Given the description of an element on the screen output the (x, y) to click on. 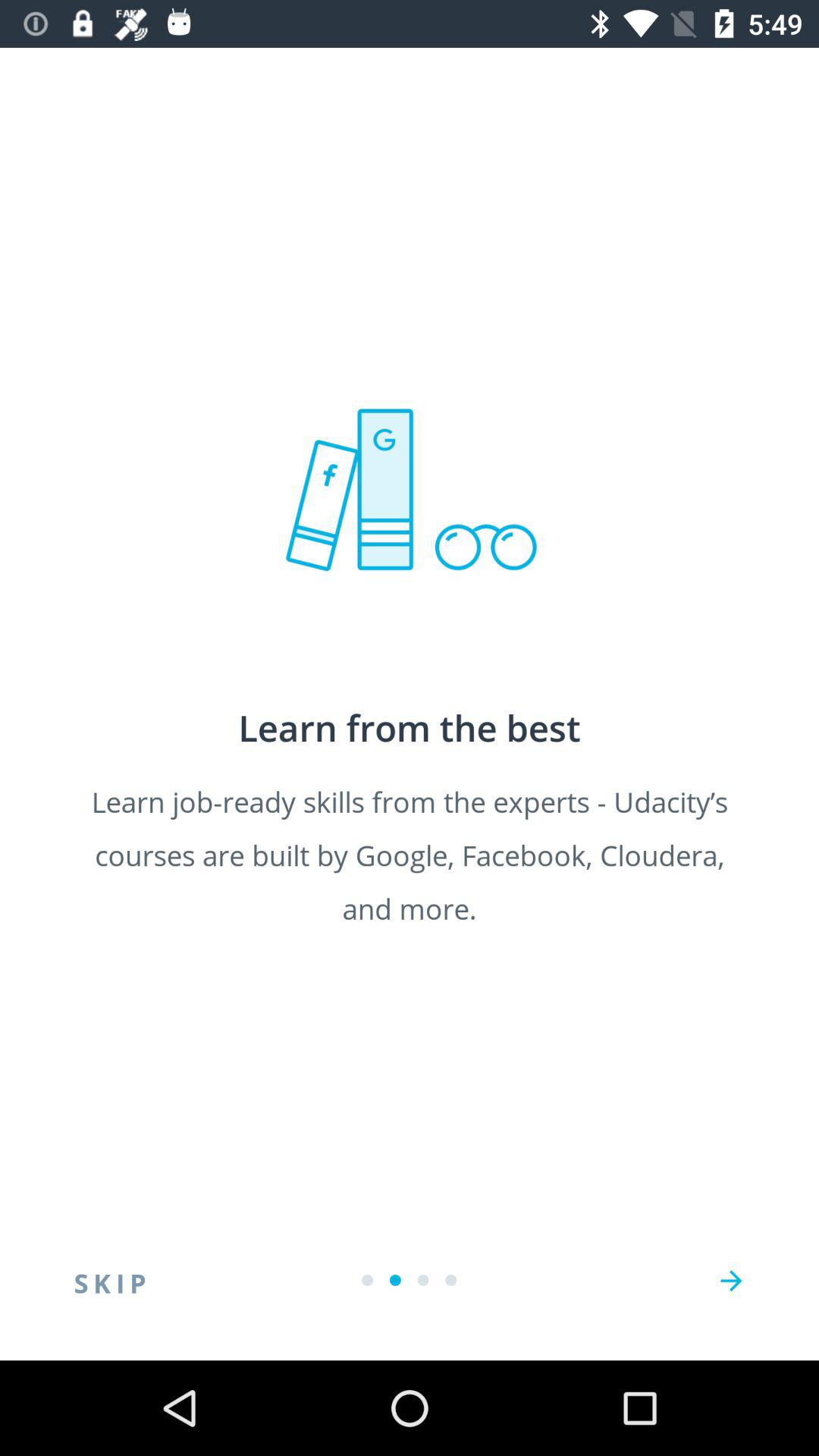
open item at the bottom right corner (731, 1280)
